Given the description of an element on the screen output the (x, y) to click on. 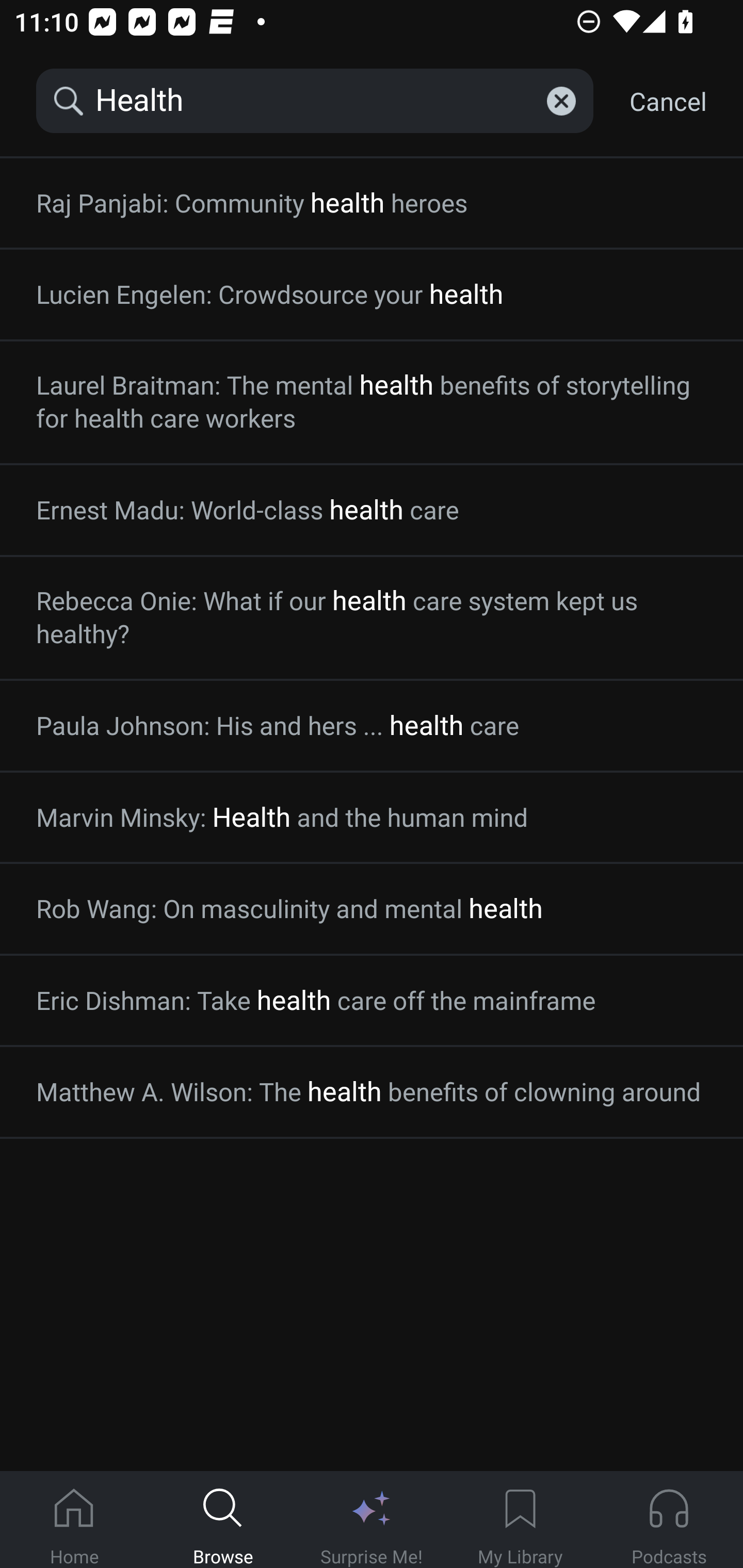
Health (314, 100)
Cancel (667, 100)
Raj Panjabi: Community health heroes (371, 202)
Lucien Engelen: Crowdsource your health (371, 293)
Ernest Madu: World-class health care (371, 510)
Paula Johnson: His and hers ... health care (371, 724)
Marvin Minsky: Health and the human mind (371, 817)
Rob Wang: On masculinity and mental health (371, 908)
Eric Dishman: Take health care off the mainframe (371, 1000)
Home (74, 1520)
Browse (222, 1520)
Surprise Me! (371, 1520)
My Library (519, 1520)
Podcasts (668, 1520)
